Given the description of an element on the screen output the (x, y) to click on. 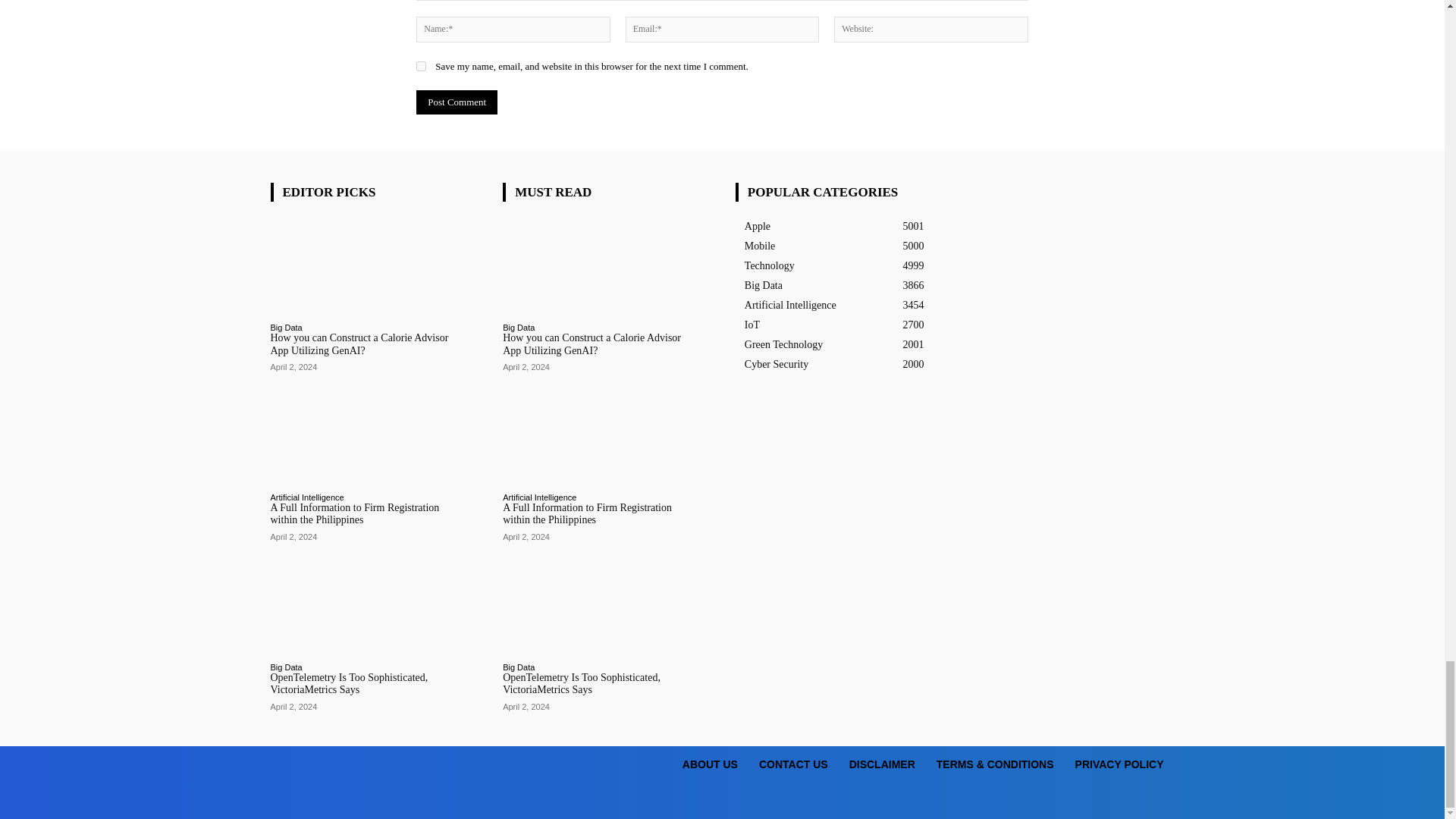
yes (421, 66)
Post Comment (456, 102)
